Given the description of an element on the screen output the (x, y) to click on. 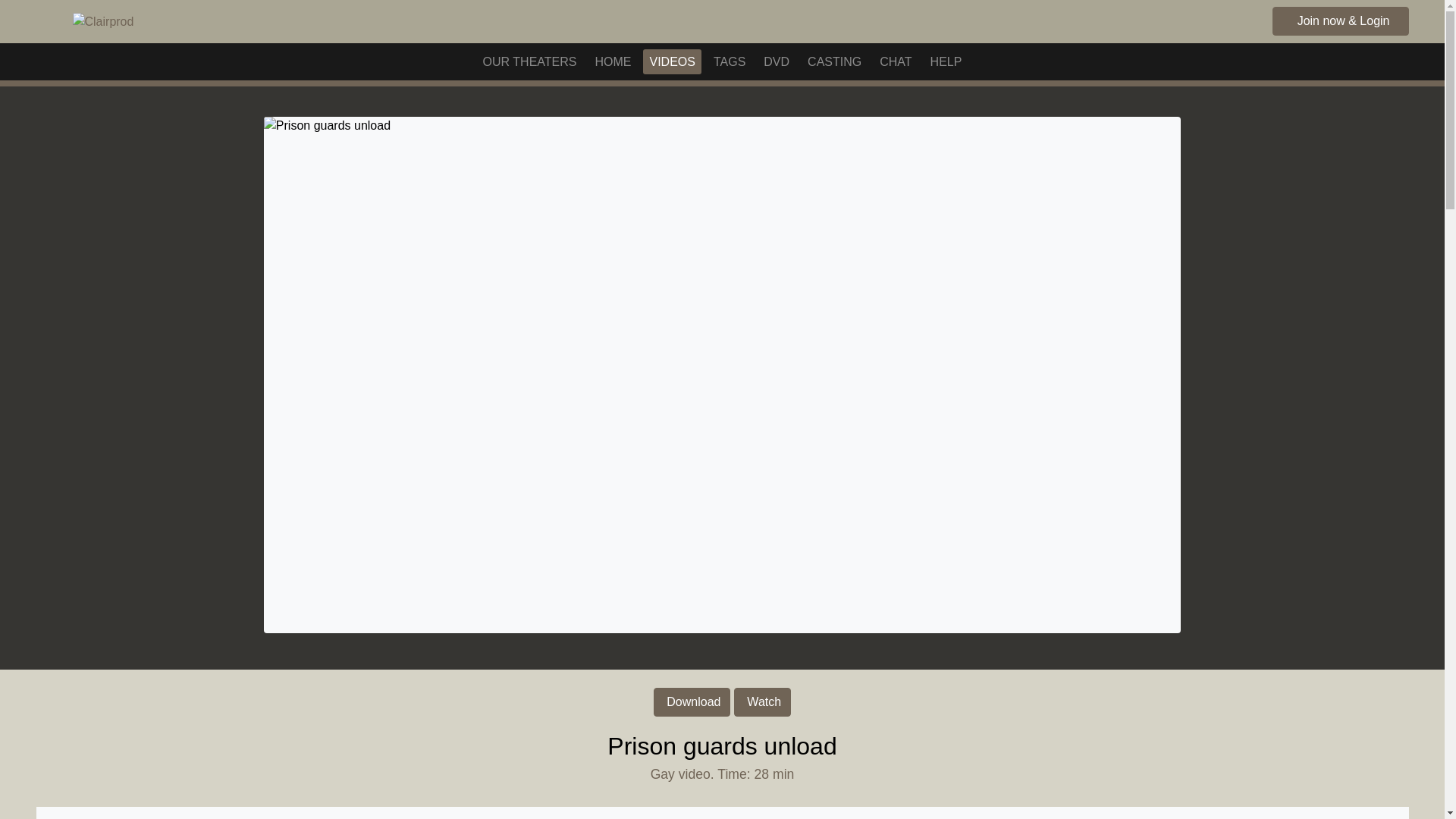
DVD (775, 62)
OUR THEATERS (530, 62)
TAGS (729, 62)
CHAT (895, 62)
VIDEOS (671, 62)
CASTING (834, 62)
HELP (946, 62)
HOME (612, 62)
